Given the description of an element on the screen output the (x, y) to click on. 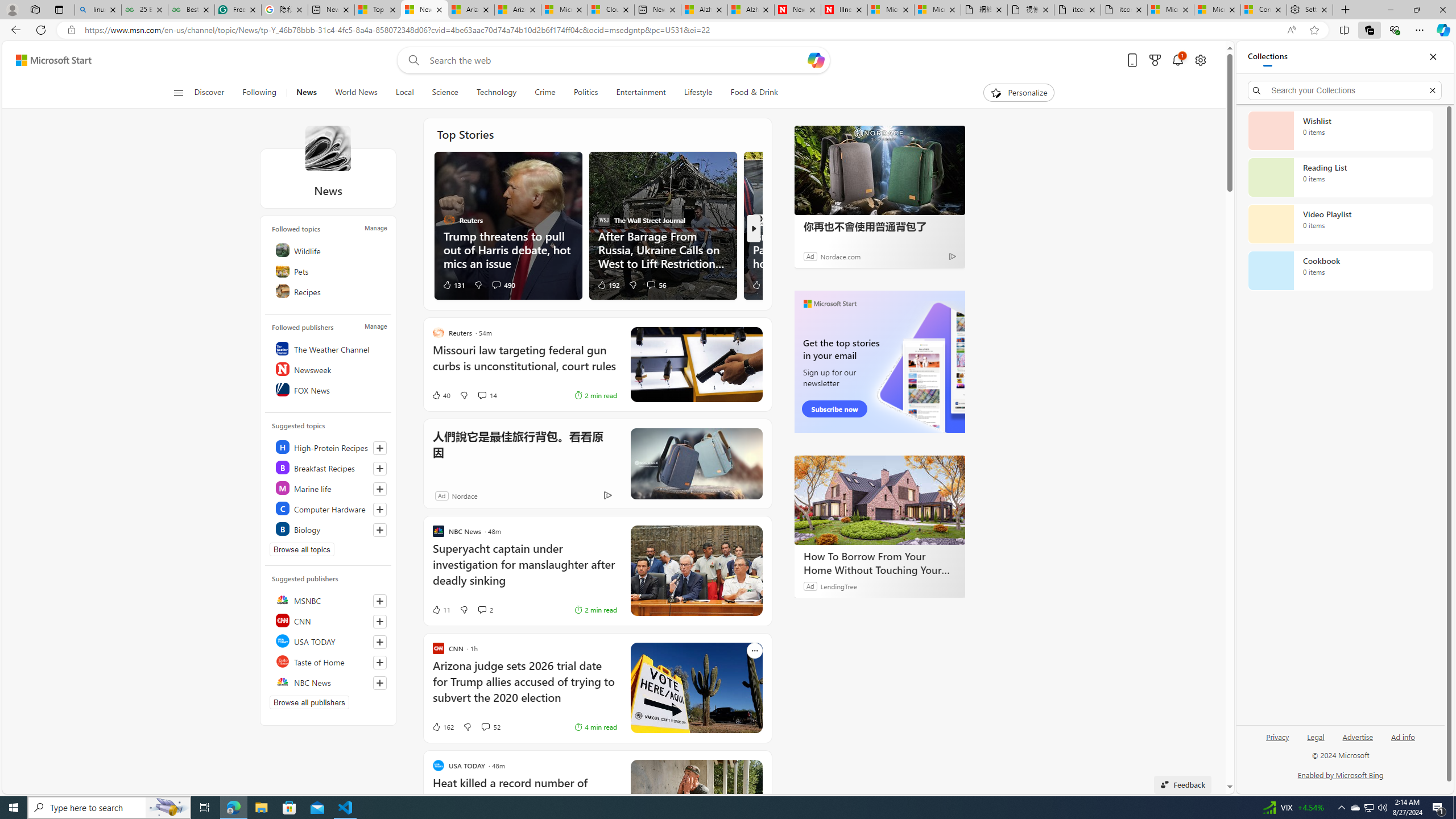
Politics (585, 92)
Ad Choice (606, 495)
View comments 56 Comment (656, 284)
Browse all publishers (309, 702)
Enter your search term (617, 59)
Feedback (1182, 784)
Science (444, 92)
Advertise (1357, 736)
View comments 2 Comment (481, 609)
Class: button-glyph (178, 92)
69 Like (760, 284)
